Given the description of an element on the screen output the (x, y) to click on. 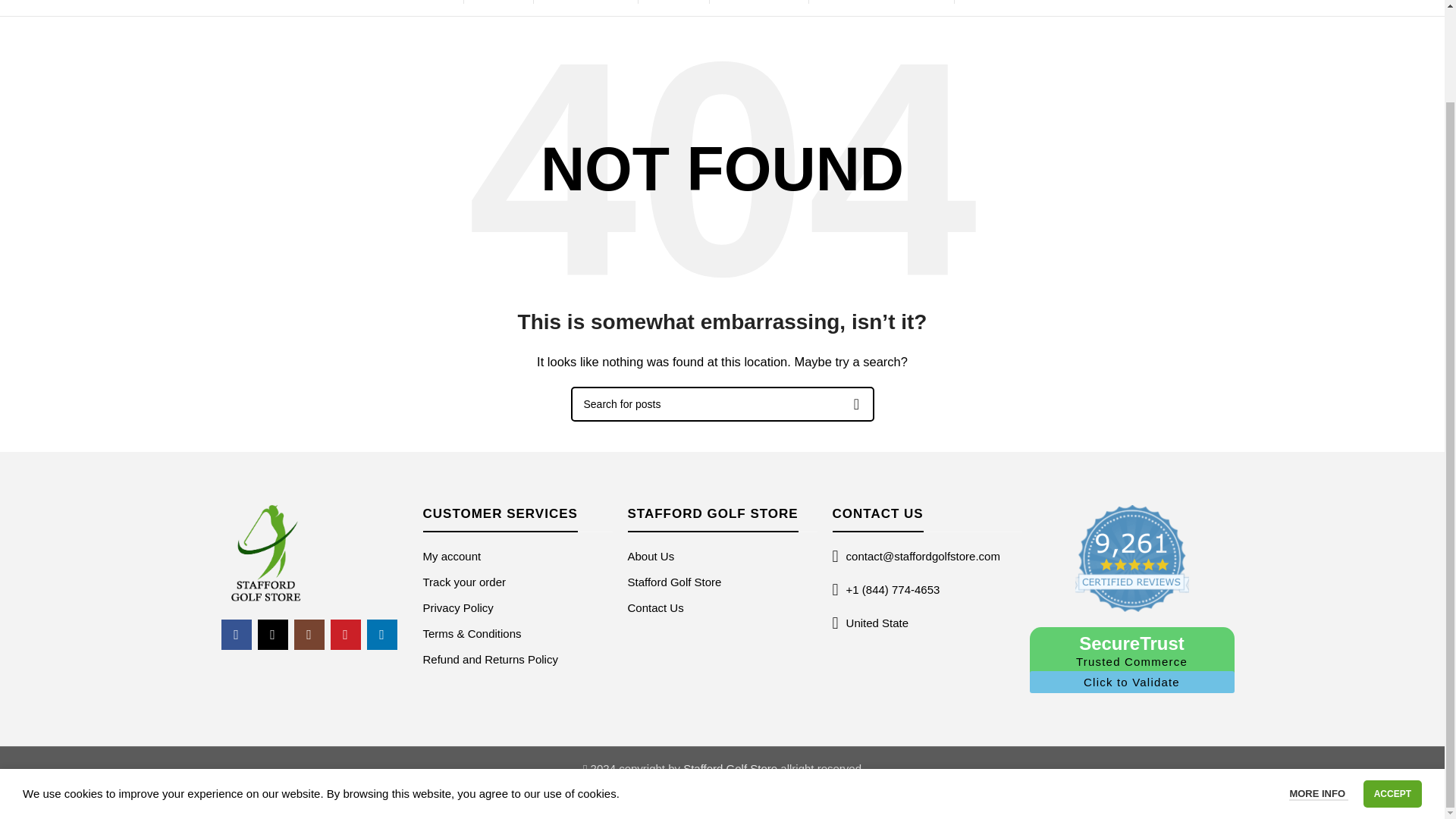
Review (1132, 558)
SHAFTS (424, 6)
Search for posts (721, 403)
